Given the description of an element on the screen output the (x, y) to click on. 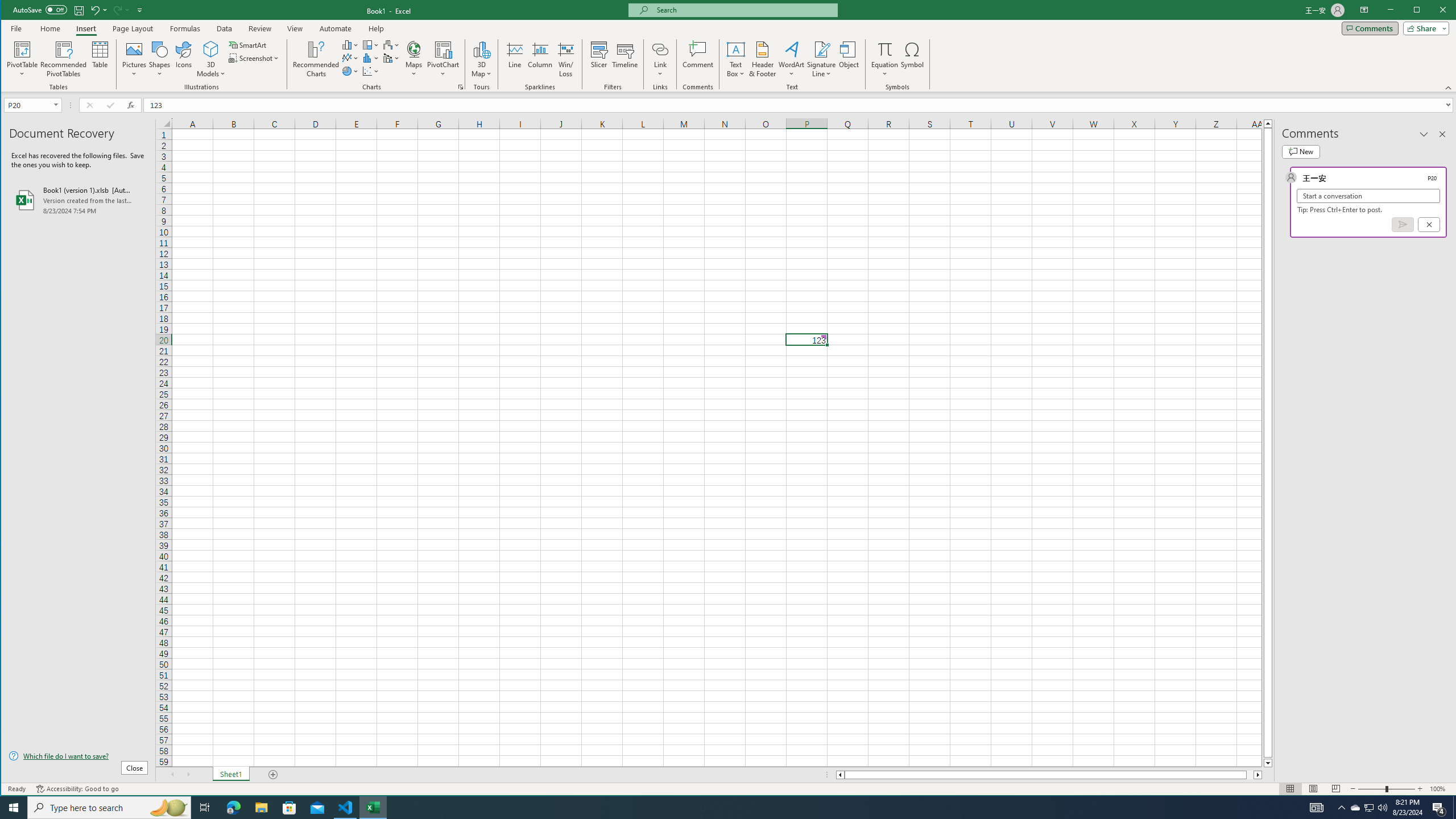
3D Models (211, 48)
Search highlights icon opens search home window (167, 807)
Q2790: 100% (1382, 807)
WordArt (791, 59)
Insert Line or Area Chart (350, 57)
Visual Studio Code - 1 running window (345, 807)
Cancel (1428, 224)
Insert Scatter (X, Y) or Bubble Chart (371, 70)
3D Map (481, 48)
